Given the description of an element on the screen output the (x, y) to click on. 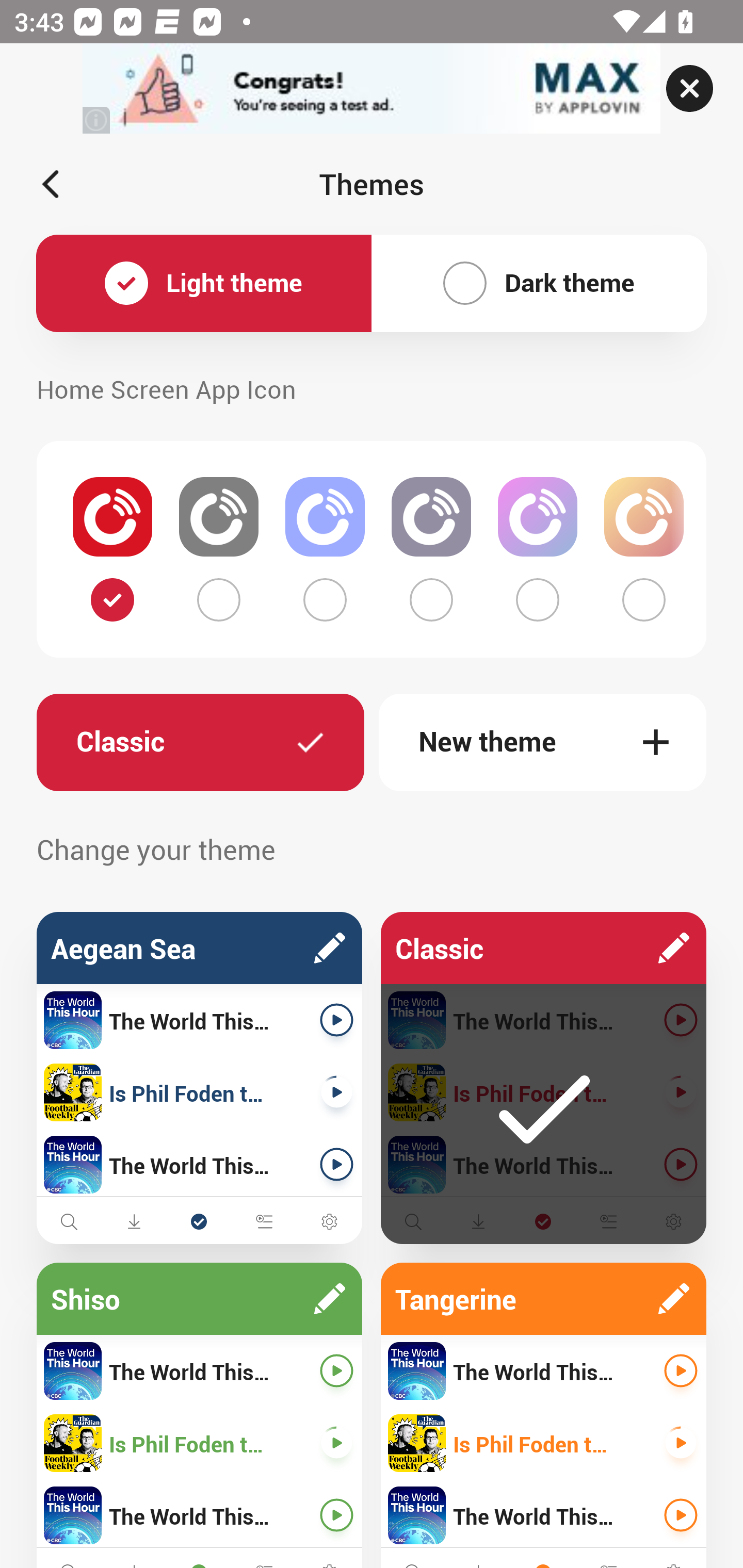
app-monetization (371, 88)
(i) (96, 119)
Navigate up (50, 184)
Light theme (203, 283)
Dark theme (538, 283)
New theme (542, 742)
Play button (336, 1019)
Play button (680, 1019)
Play button (336, 1092)
Play button (680, 1092)
Play button (336, 1164)
Play button (680, 1164)
Discover (68, 1221)
Downloads (133, 1221)
Following (198, 1221)
Playlists (263, 1221)
Settings (329, 1221)
Discover (412, 1221)
Downloads (478, 1221)
Following (543, 1221)
Playlists (607, 1221)
Settings (673, 1221)
Play button (336, 1371)
Play button (680, 1371)
Play button (336, 1443)
Play button (680, 1443)
Play button (336, 1515)
Play button (680, 1515)
